Given the description of an element on the screen output the (x, y) to click on. 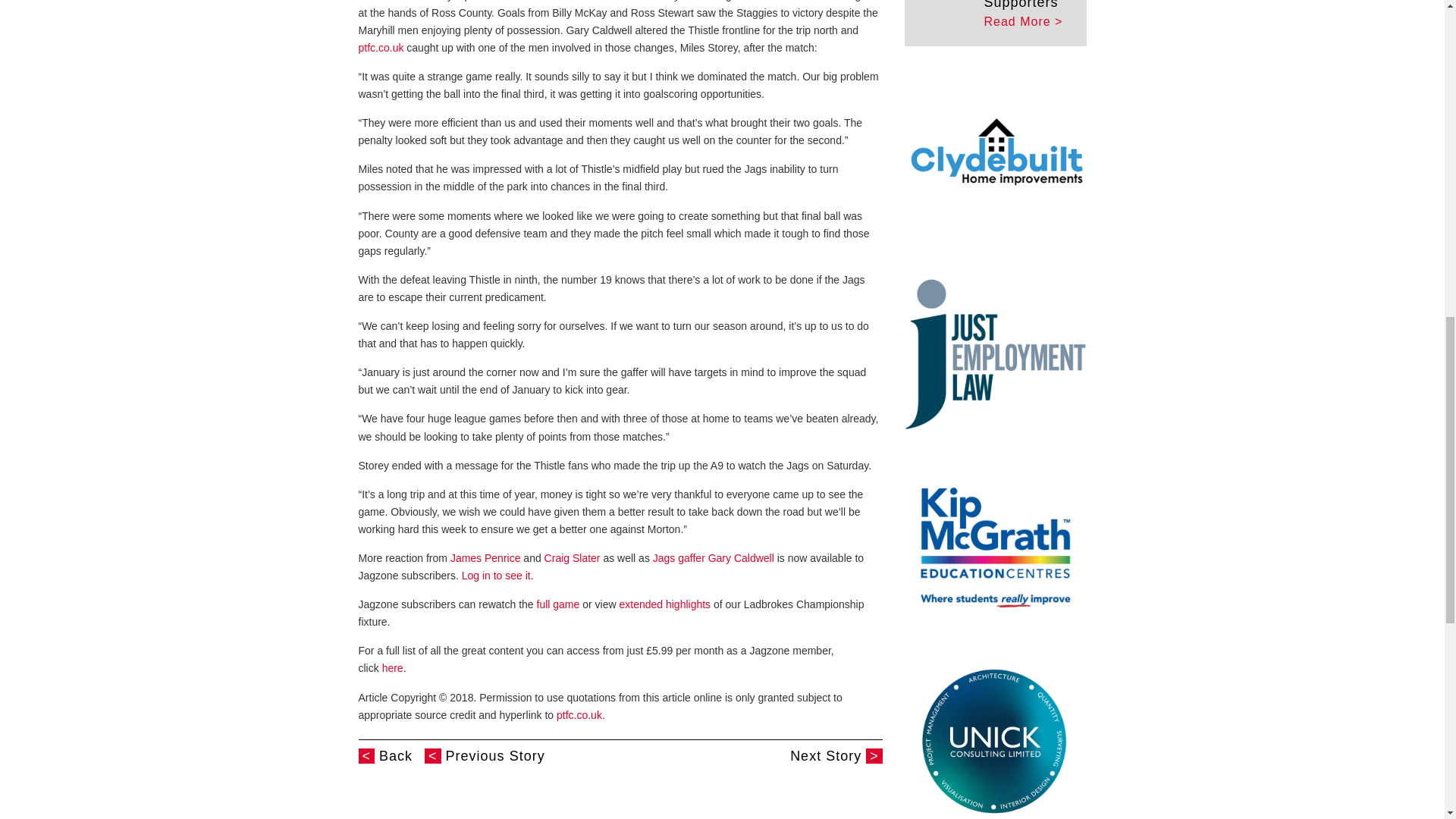
here. (393, 667)
Jags gaffer Gary Caldwell (713, 558)
James Penrice (485, 558)
Craig Slater (571, 558)
full game (558, 604)
Log in to see it. (497, 575)
ptfc.co.uk. (580, 715)
extended highlights (664, 604)
ptfc.co.uk (382, 47)
